Given the description of an element on the screen output the (x, y) to click on. 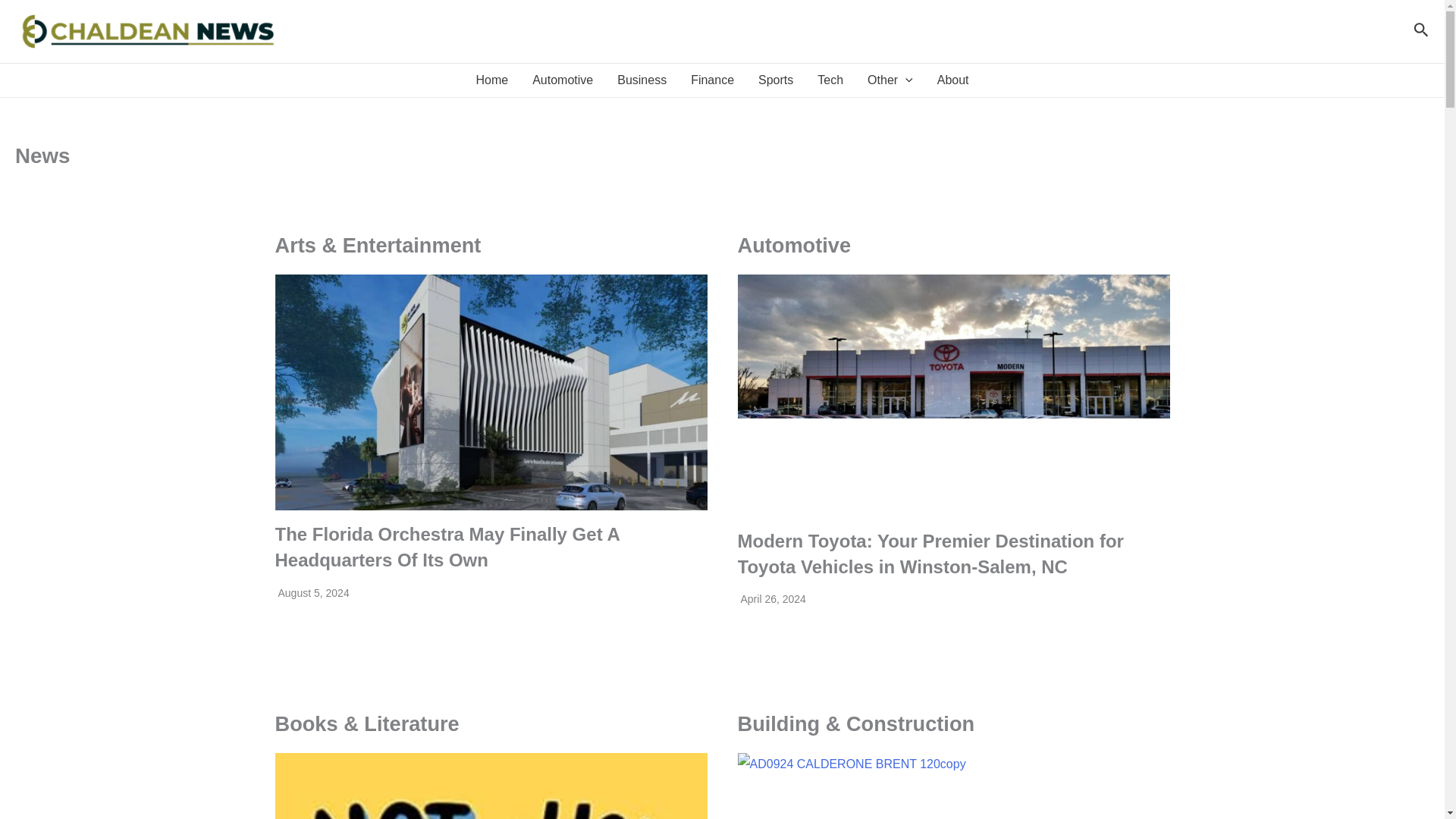
Automotive (562, 80)
Other (890, 80)
Finance (711, 80)
Tech (830, 80)
Home (491, 80)
About (952, 80)
Sports (775, 80)
Business (641, 80)
